Given the description of an element on the screen output the (x, y) to click on. 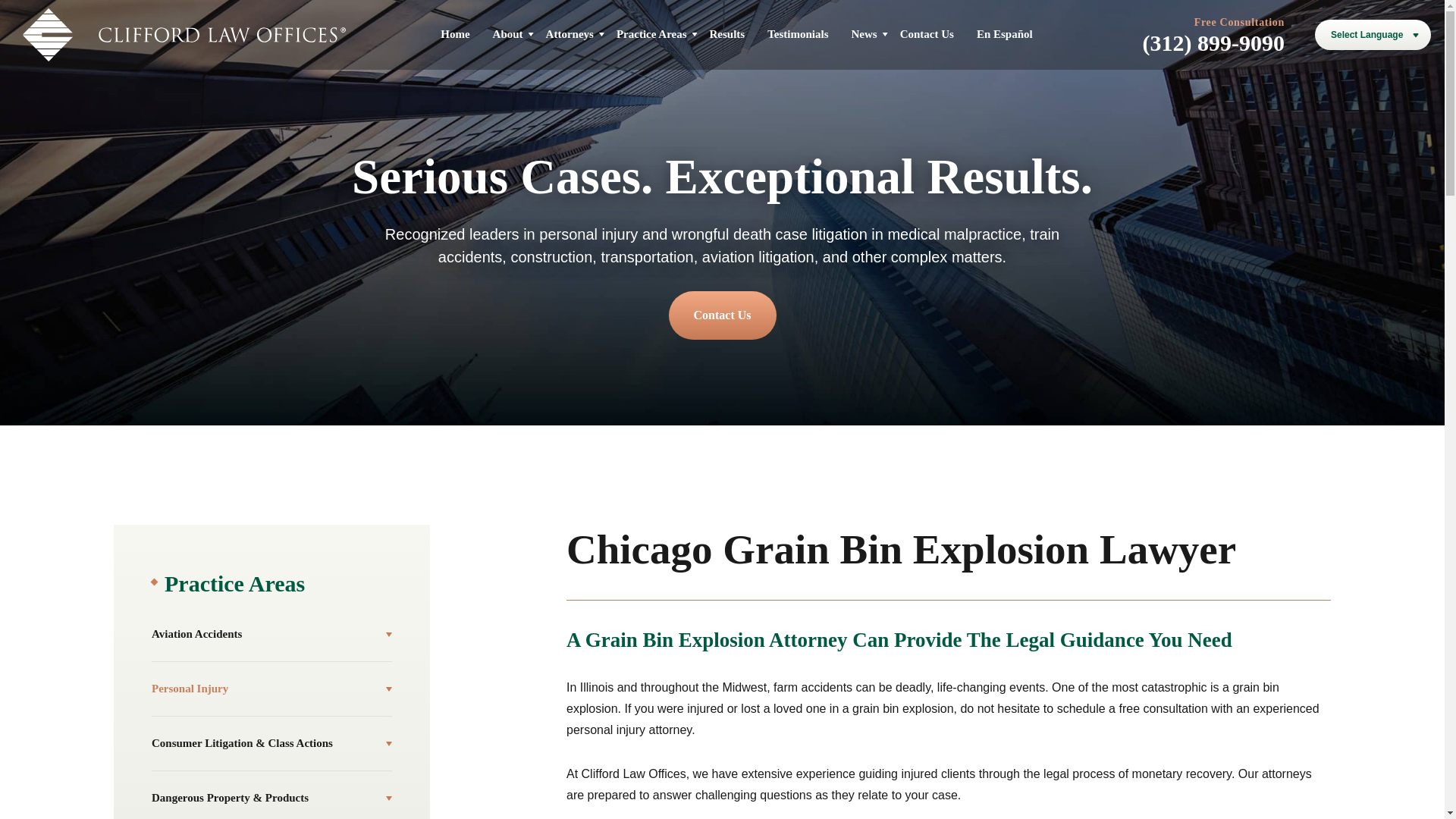
Results (727, 33)
Contact Us (722, 315)
Practice Areas (651, 33)
News (863, 33)
Attorneys (570, 33)
Home (454, 33)
Testimonials (797, 33)
Contact Us (926, 33)
About (507, 33)
